Given the description of an element on the screen output the (x, y) to click on. 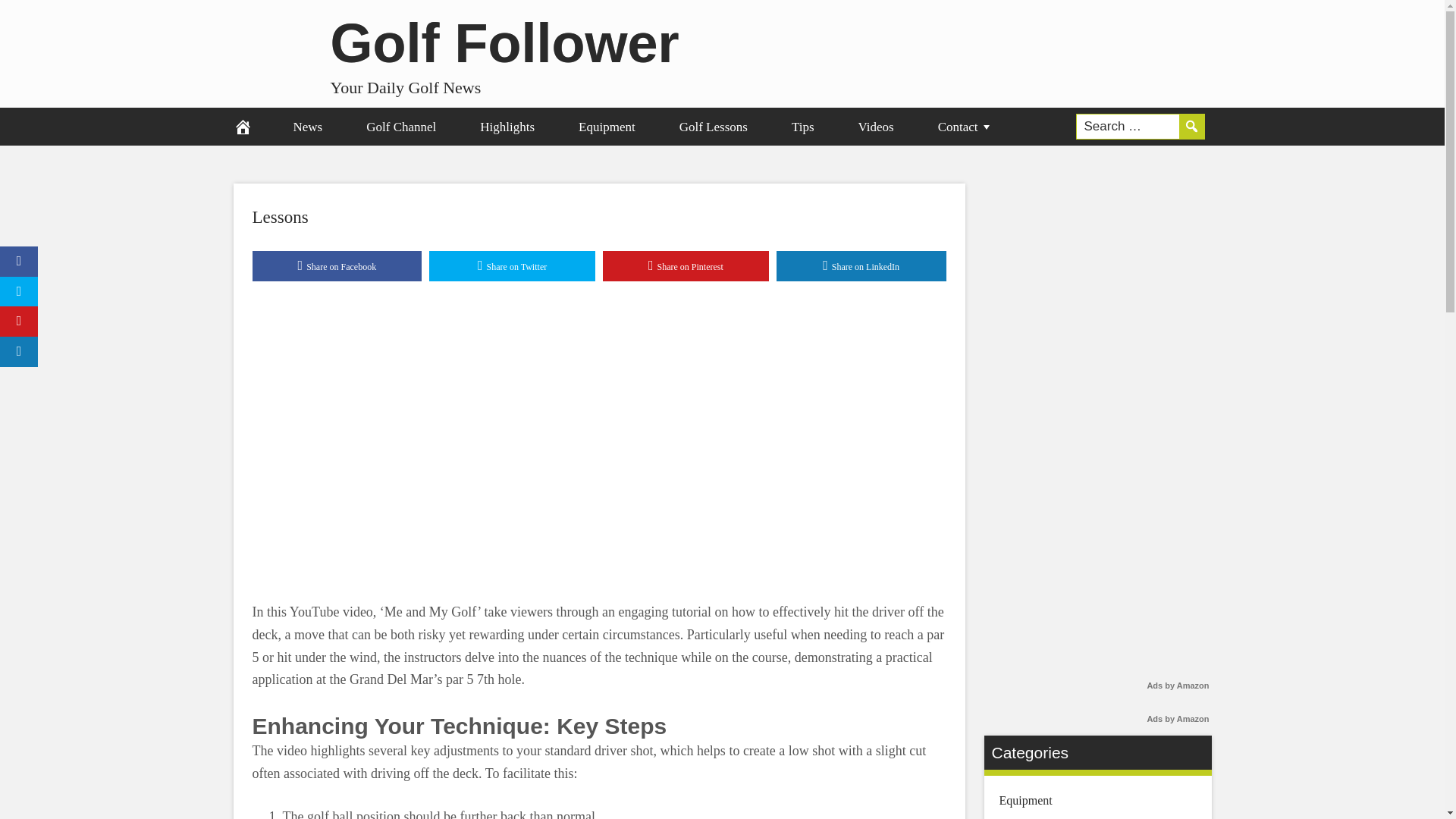
Highlights (507, 126)
News (307, 126)
Contact (964, 126)
Golf Channel (400, 126)
Equipment (607, 126)
Golf Lessons (714, 126)
Lessons (279, 217)
Videos (875, 126)
Lessons (279, 217)
Tips (802, 126)
Golf Follower (504, 42)
